Given the description of an element on the screen output the (x, y) to click on. 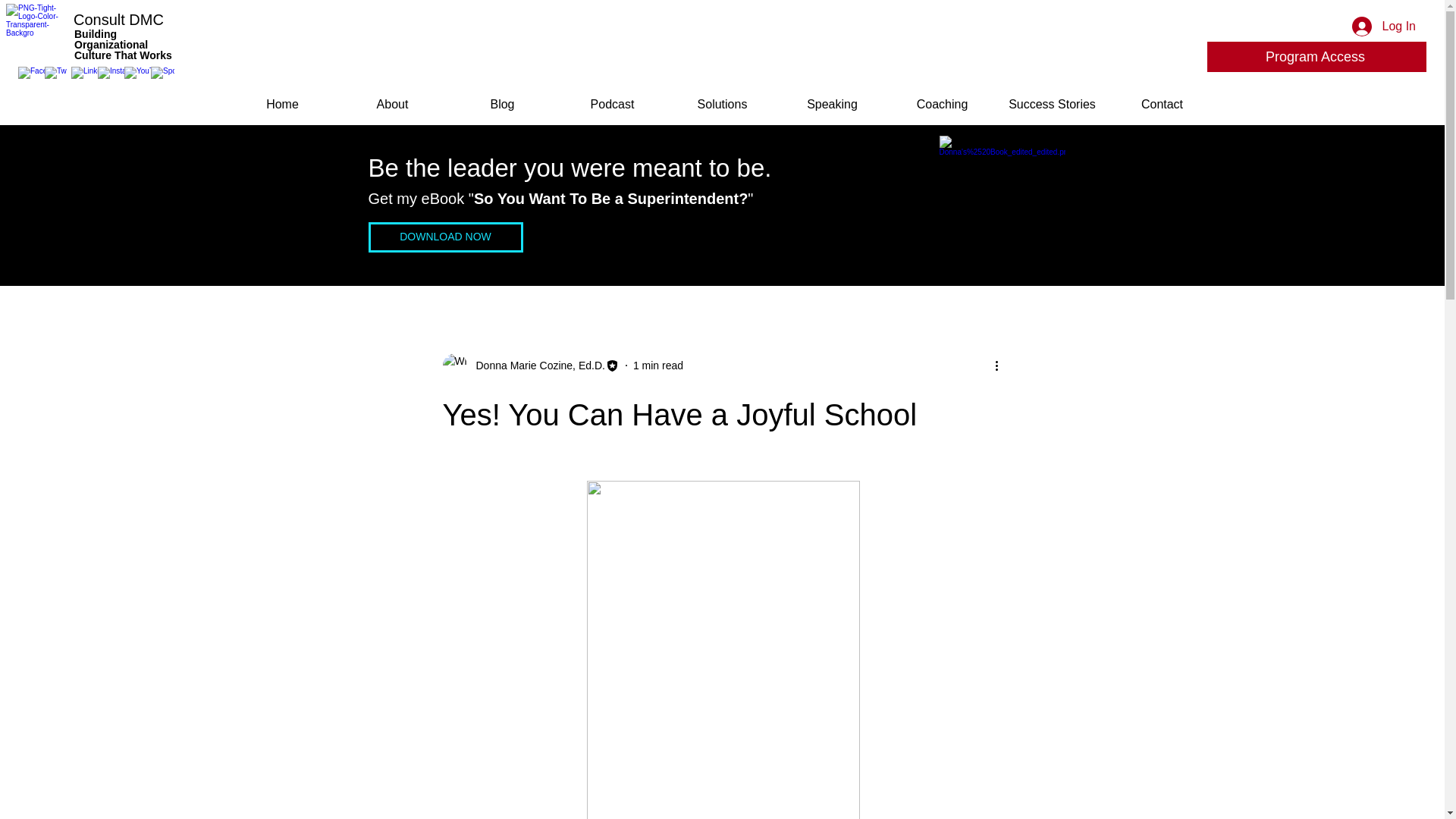
Consult DMC (118, 19)
Solutions (721, 104)
Donna Marie Cozine, Ed.D. (531, 364)
Speaking (831, 104)
Coaching (941, 104)
Success Stories (1051, 104)
Culture That Works (122, 55)
Log In (1383, 26)
DOWNLOAD NOW (445, 236)
Home (282, 104)
